Given the description of an element on the screen output the (x, y) to click on. 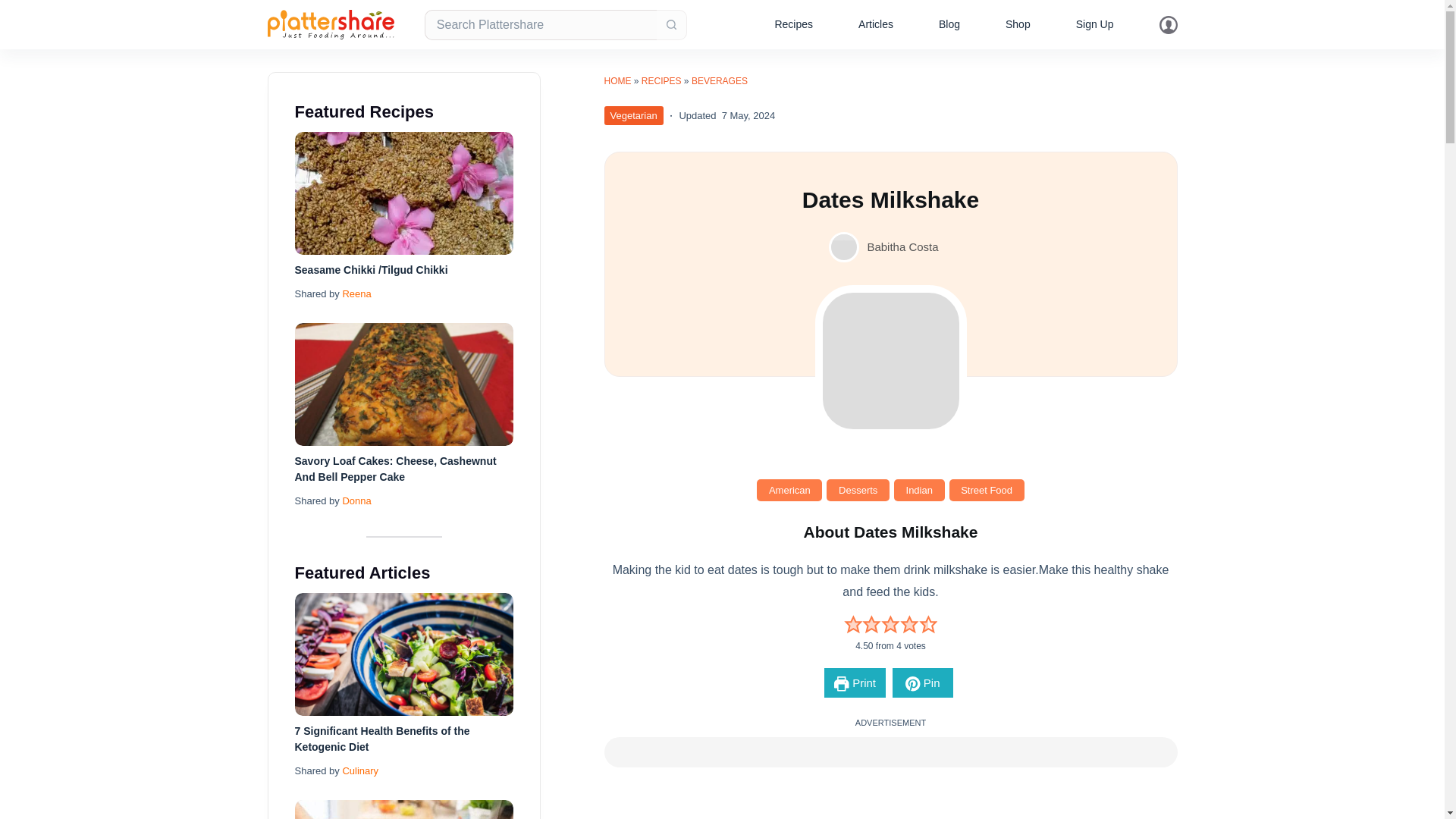
American (789, 490)
Indian (918, 490)
Search for... (540, 24)
Print (854, 682)
Shop (1017, 24)
Blog (948, 24)
Pin (922, 682)
Skip to content (15, 7)
RECIPES (661, 81)
